Given the description of an element on the screen output the (x, y) to click on. 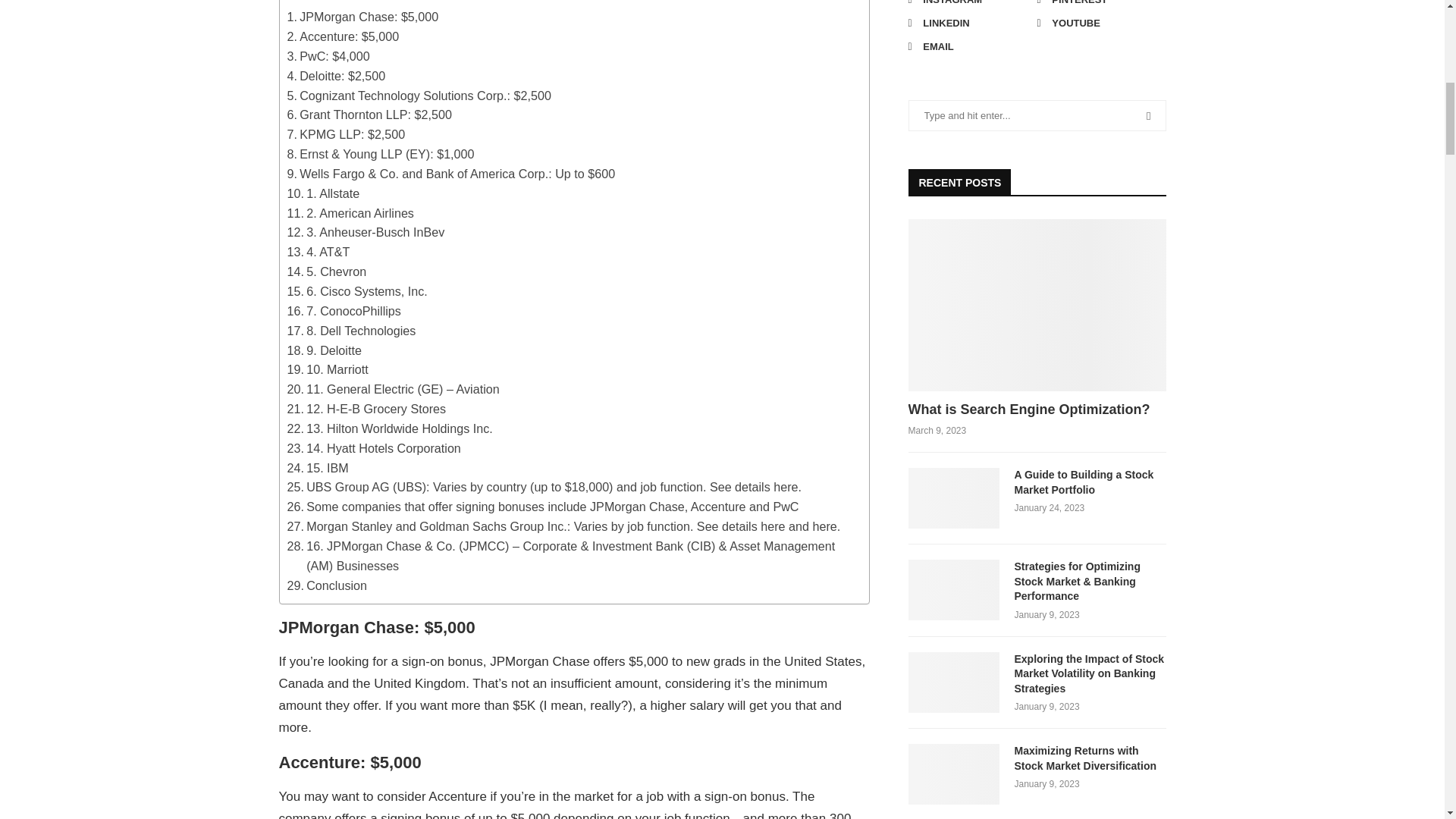
2. American Airlines (349, 213)
1. Allstate (322, 193)
3. Anheuser-Busch InBev (365, 232)
